Given the description of an element on the screen output the (x, y) to click on. 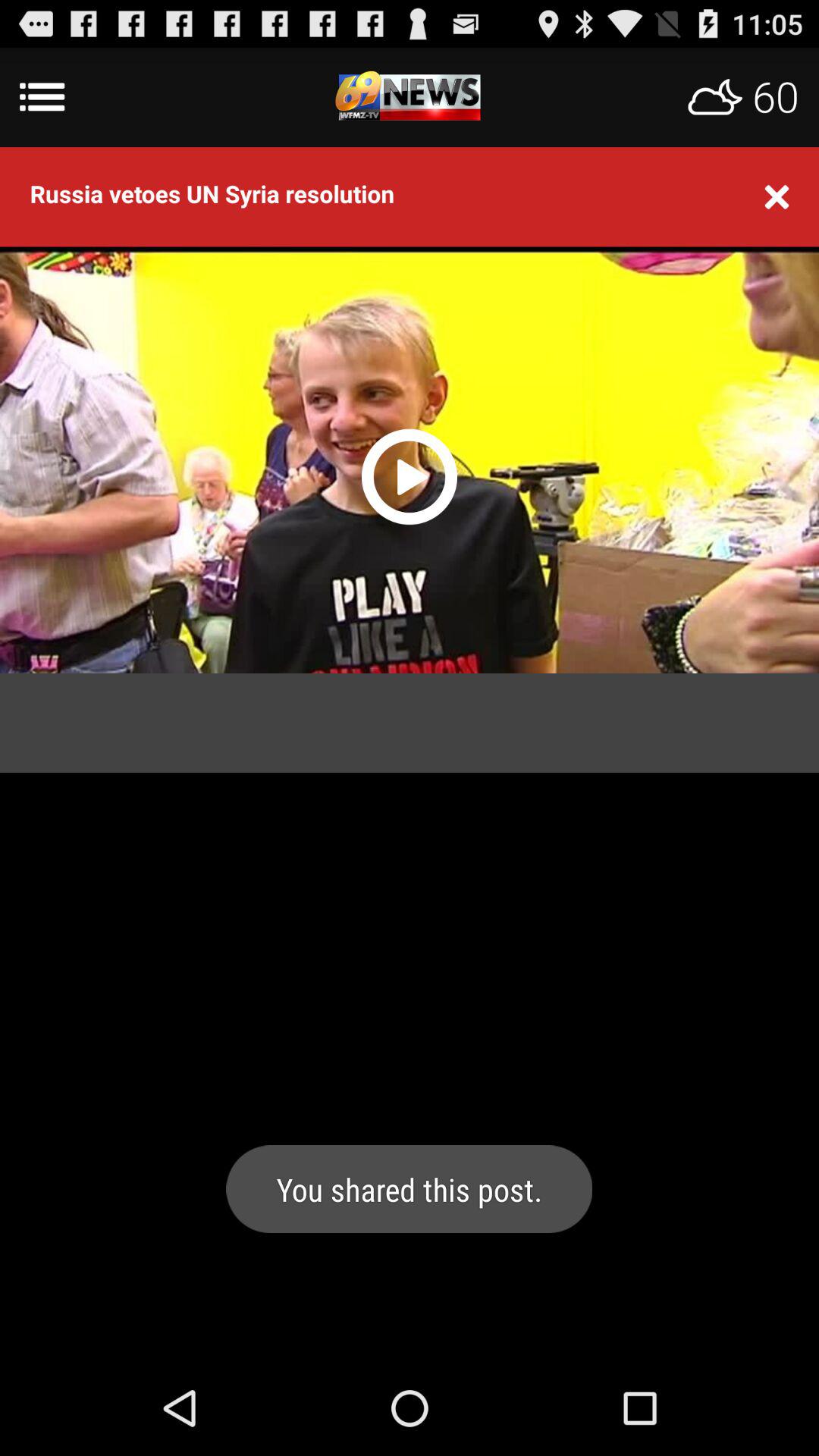
menu app logo weather (409, 97)
